Given the description of an element on the screen output the (x, y) to click on. 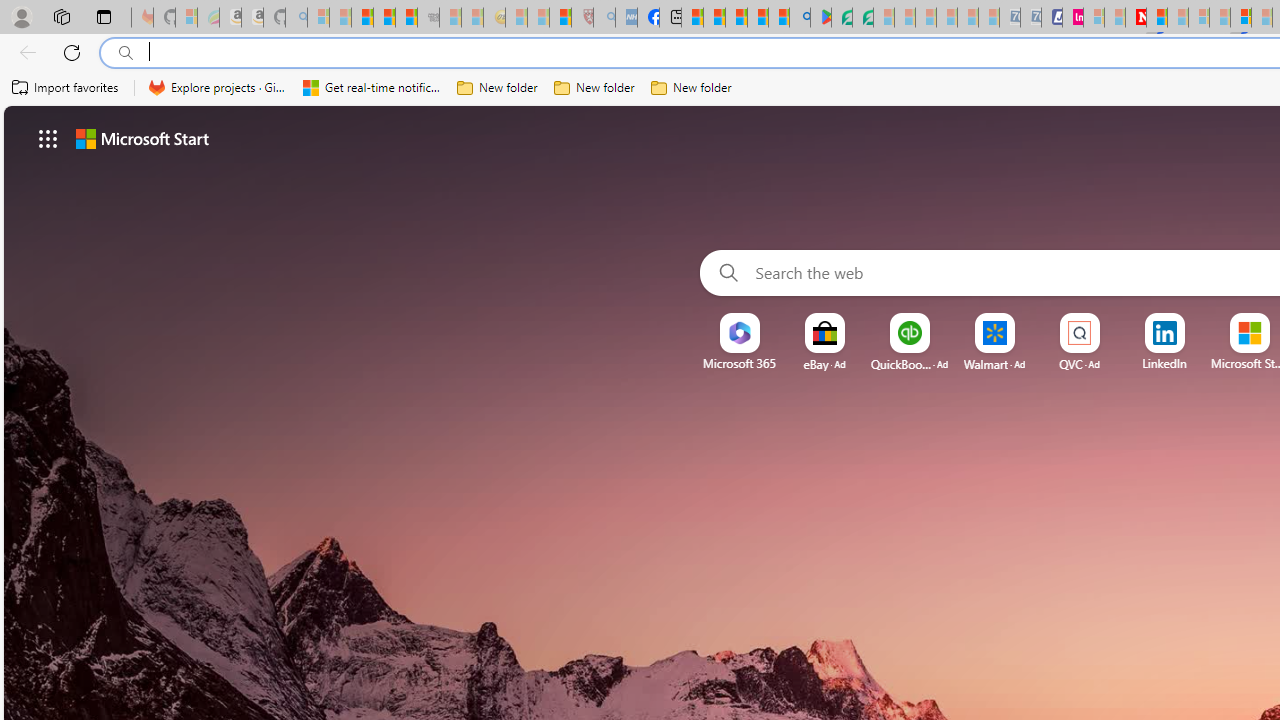
Pets - MSN (757, 17)
Microsoft start (142, 138)
